Given the description of an element on the screen output the (x, y) to click on. 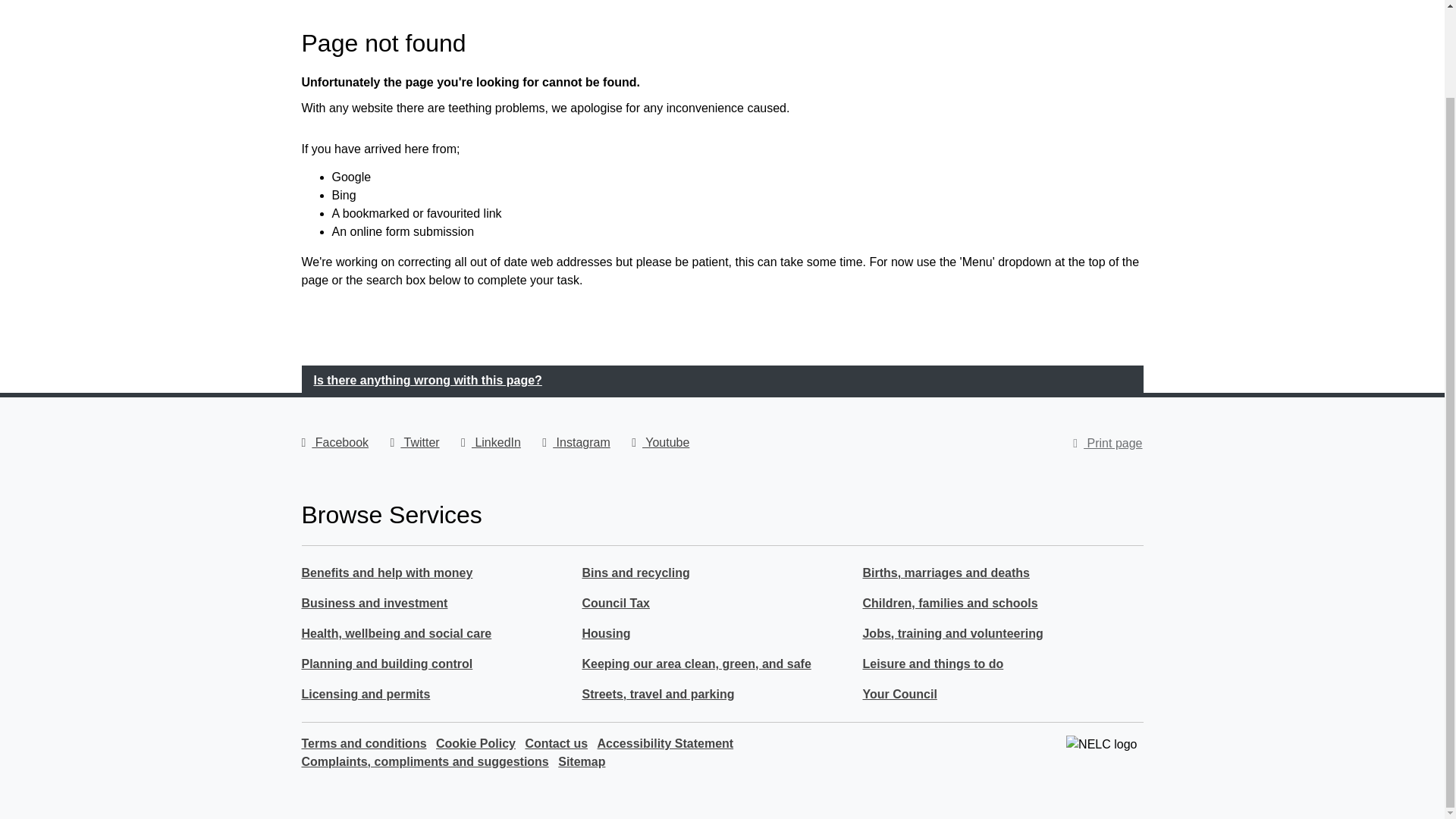
Facebook (335, 441)
Business and investment (374, 606)
Housing (605, 636)
Youtube (659, 441)
Twitter link (414, 441)
Instagram link (575, 441)
Instagram (575, 441)
Benefits and help with money (387, 575)
Youtube link (659, 441)
Bins and recycling (634, 575)
